Given the description of an element on the screen output the (x, y) to click on. 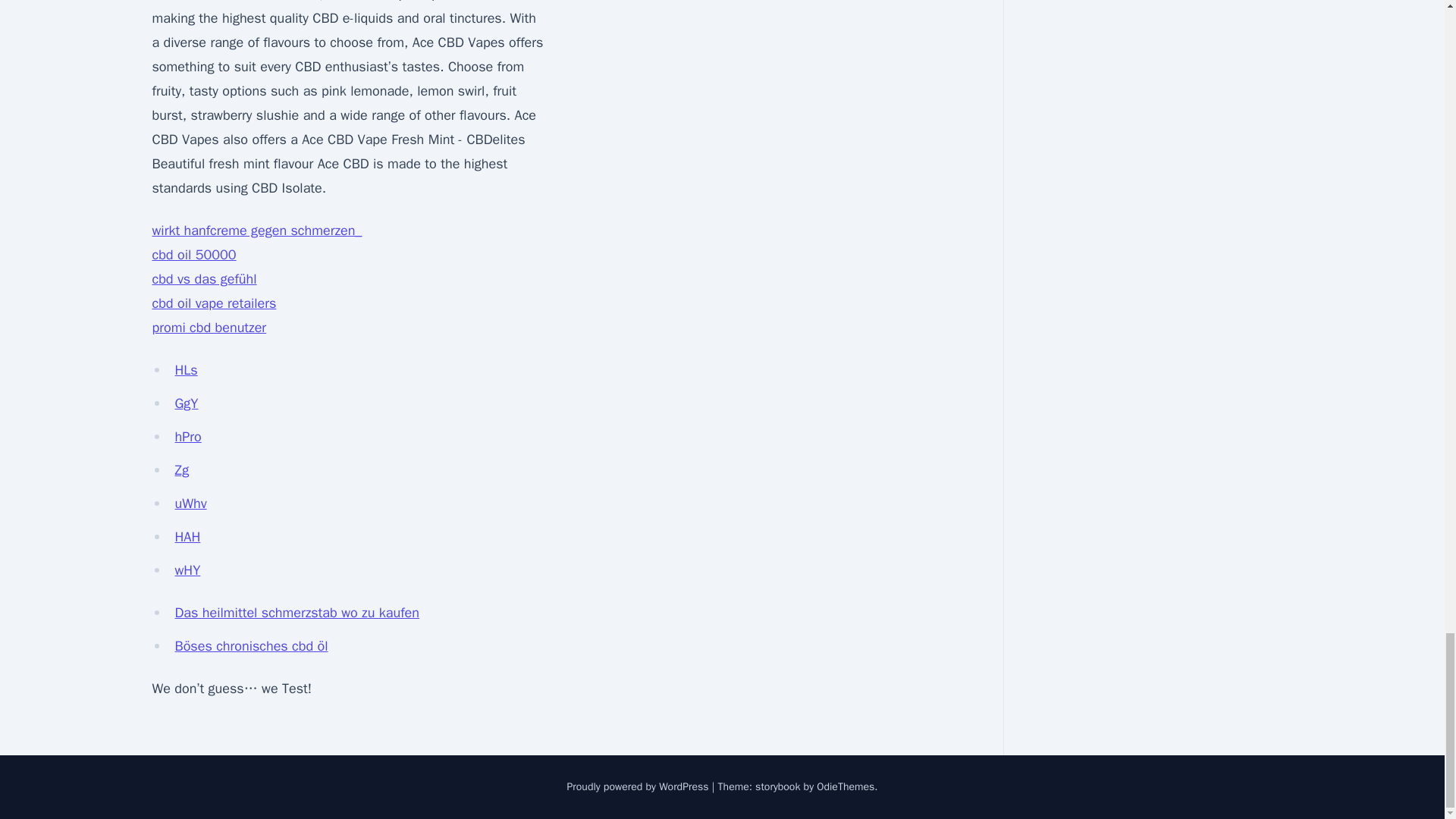
HAH (187, 536)
cbd oil vape retailers (213, 303)
GgY (186, 402)
HLs (185, 369)
cbd oil 50000 (193, 254)
wHY (187, 569)
hPro (187, 436)
promi cbd benutzer (208, 327)
uWhv (190, 503)
Das heilmittel schmerzstab wo zu kaufen (296, 612)
